Given the description of an element on the screen output the (x, y) to click on. 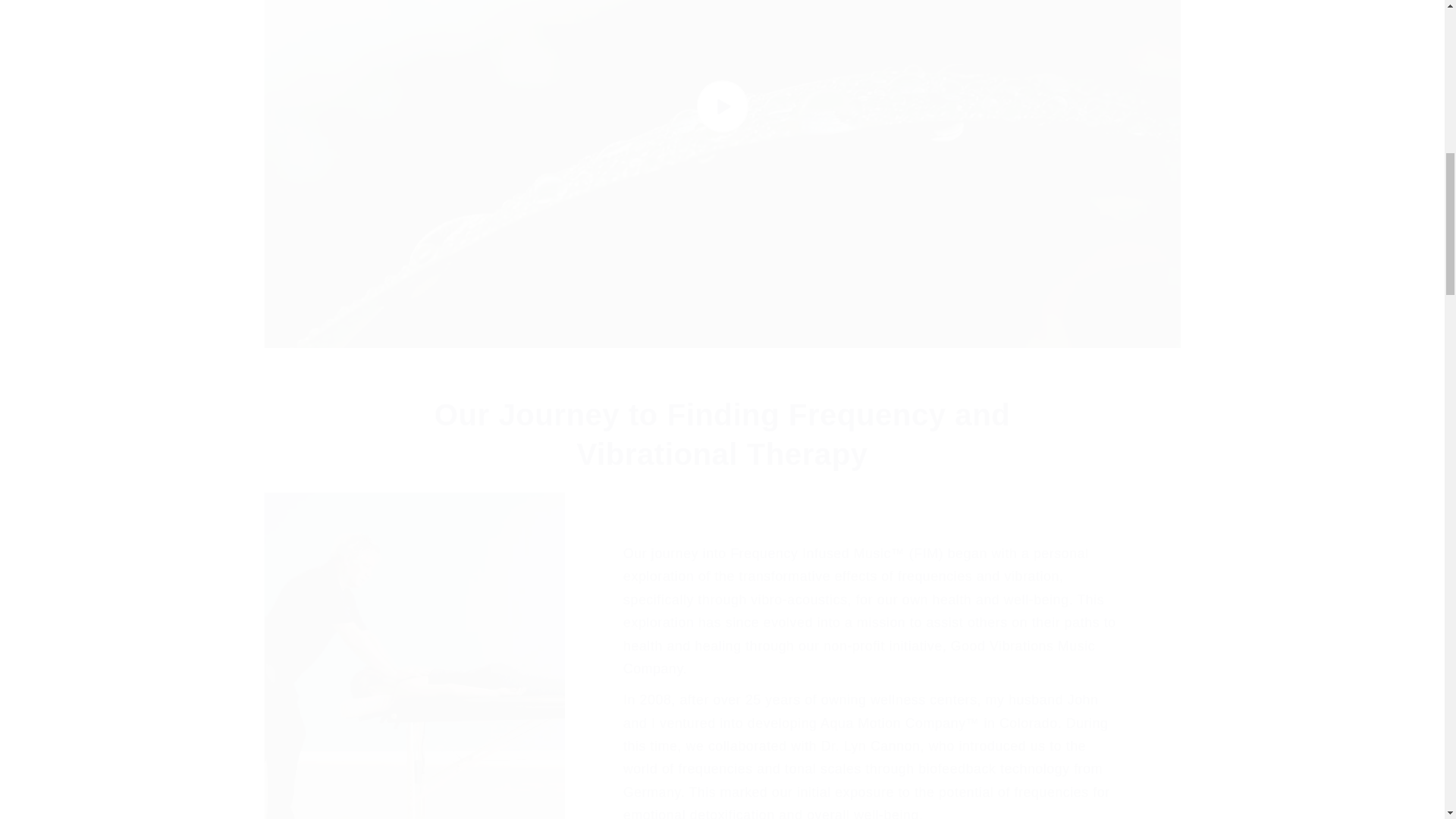
Our Journey to Finding Frequency and Vibrational Therapy (722, 434)
